Given the description of an element on the screen output the (x, y) to click on. 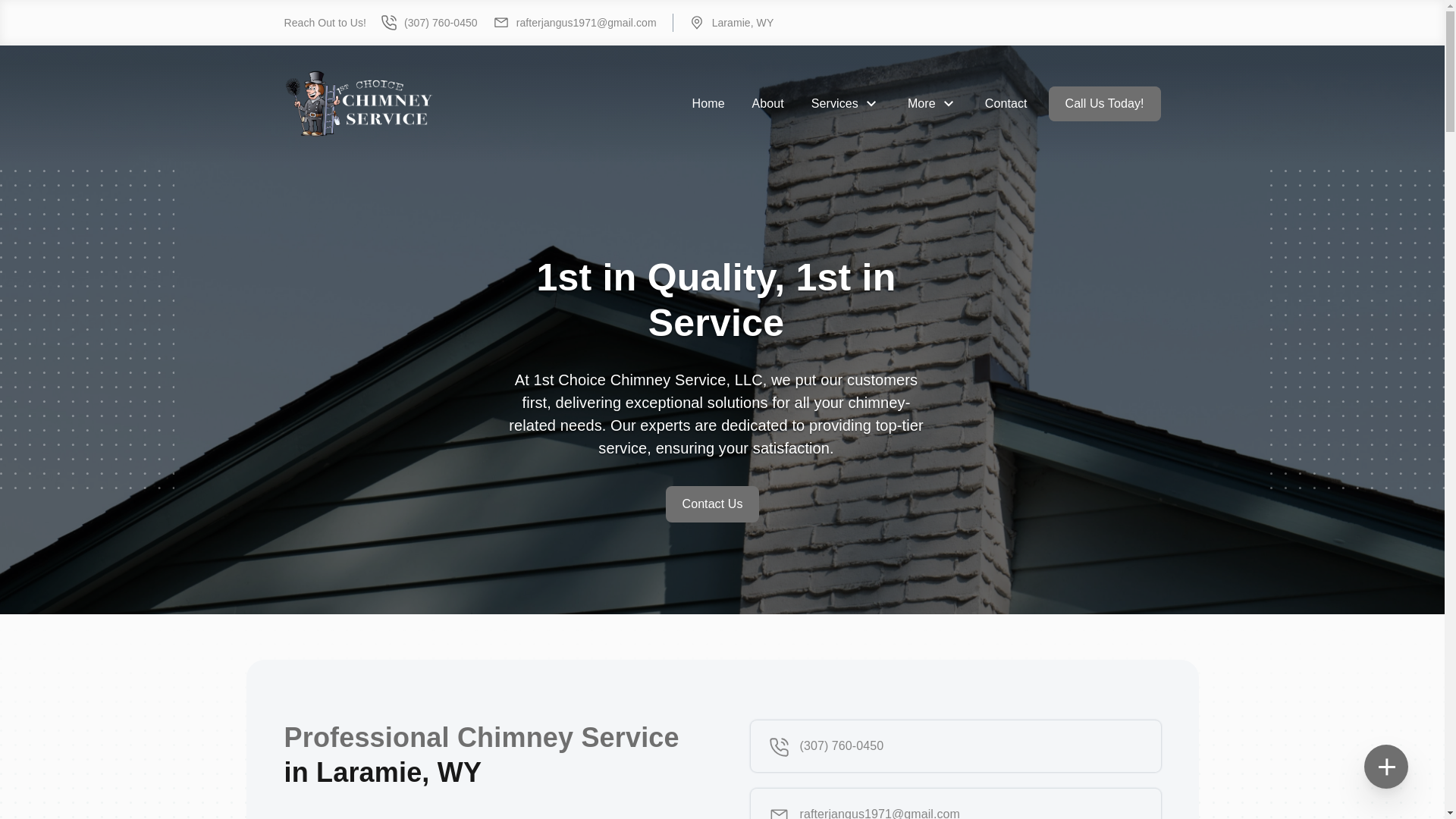
About Element type: text (767, 103)
Laramie, WY Element type: text (723, 22)
Services Element type: text (845, 103)
Contact Element type: text (1006, 103)
(307) 760-0450 Element type: text (429, 22)
Home Element type: text (708, 103)
rafterjangus1971@gmail.com Element type: text (574, 22)
More Element type: text (932, 103)
(307) 760-0450 Element type: text (955, 745)
Call Us Today! Element type: text (1104, 103)
Contact Us Element type: text (712, 504)
